Given the description of an element on the screen output the (x, y) to click on. 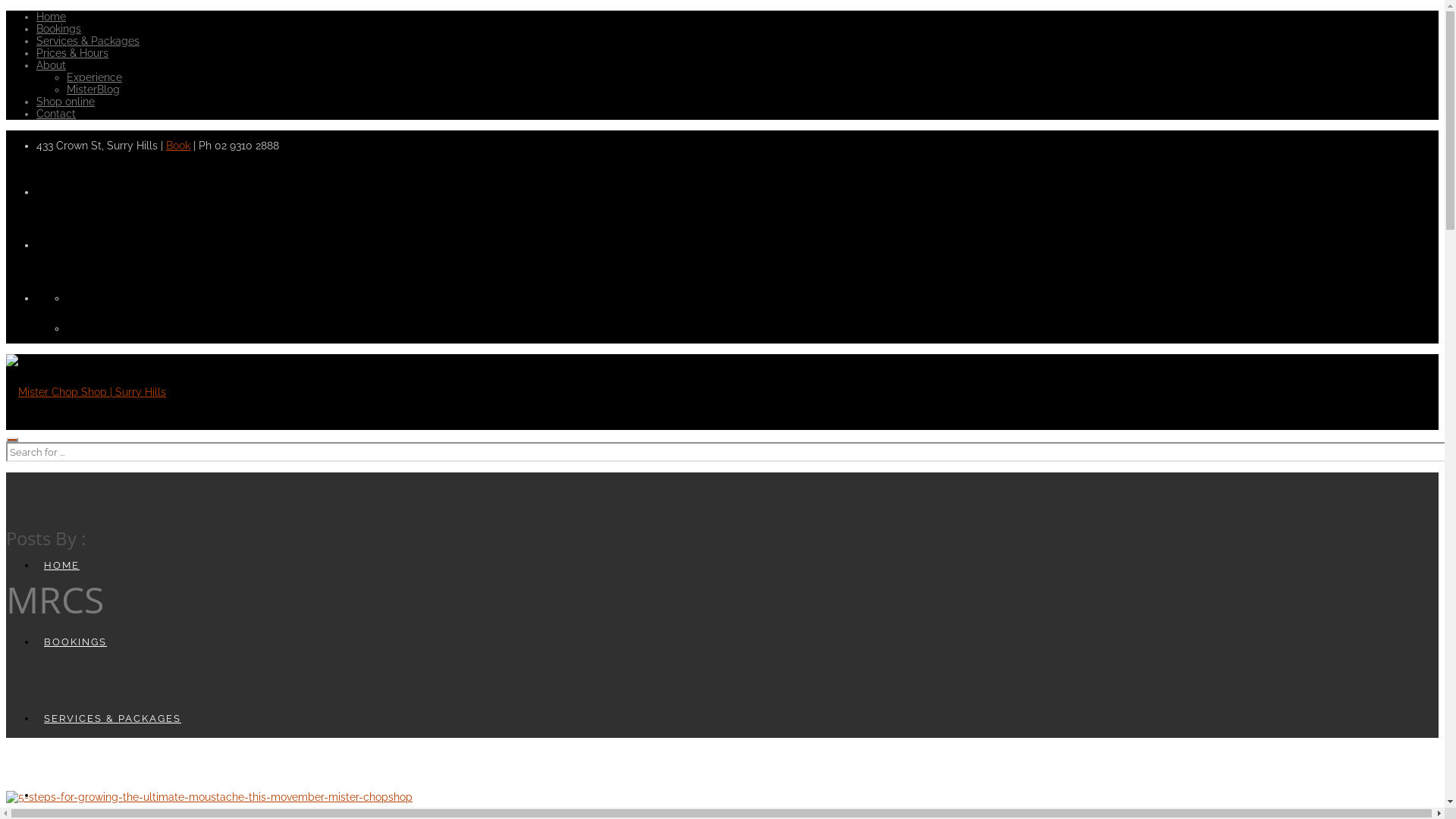
Book Element type: text (178, 145)
BOOKINGS Element type: text (74, 641)
SERVICES & PACKAGES Element type: text (112, 718)
HOME Element type: text (61, 565)
Shop online Element type: text (65, 101)
Services & Packages Element type: text (87, 40)
Contact Element type: text (55, 113)
About Element type: text (50, 65)
MisterBlog Element type: text (92, 89)
Mister Chop Shop | Surry Hills Element type: hover (86, 391)
Home Element type: text (50, 16)
PRICES & HOURS Element type: text (93, 794)
Bookings Element type: text (58, 28)
Experience Element type: text (94, 77)
Prices & Hours Element type: text (72, 53)
